Given the description of an element on the screen output the (x, y) to click on. 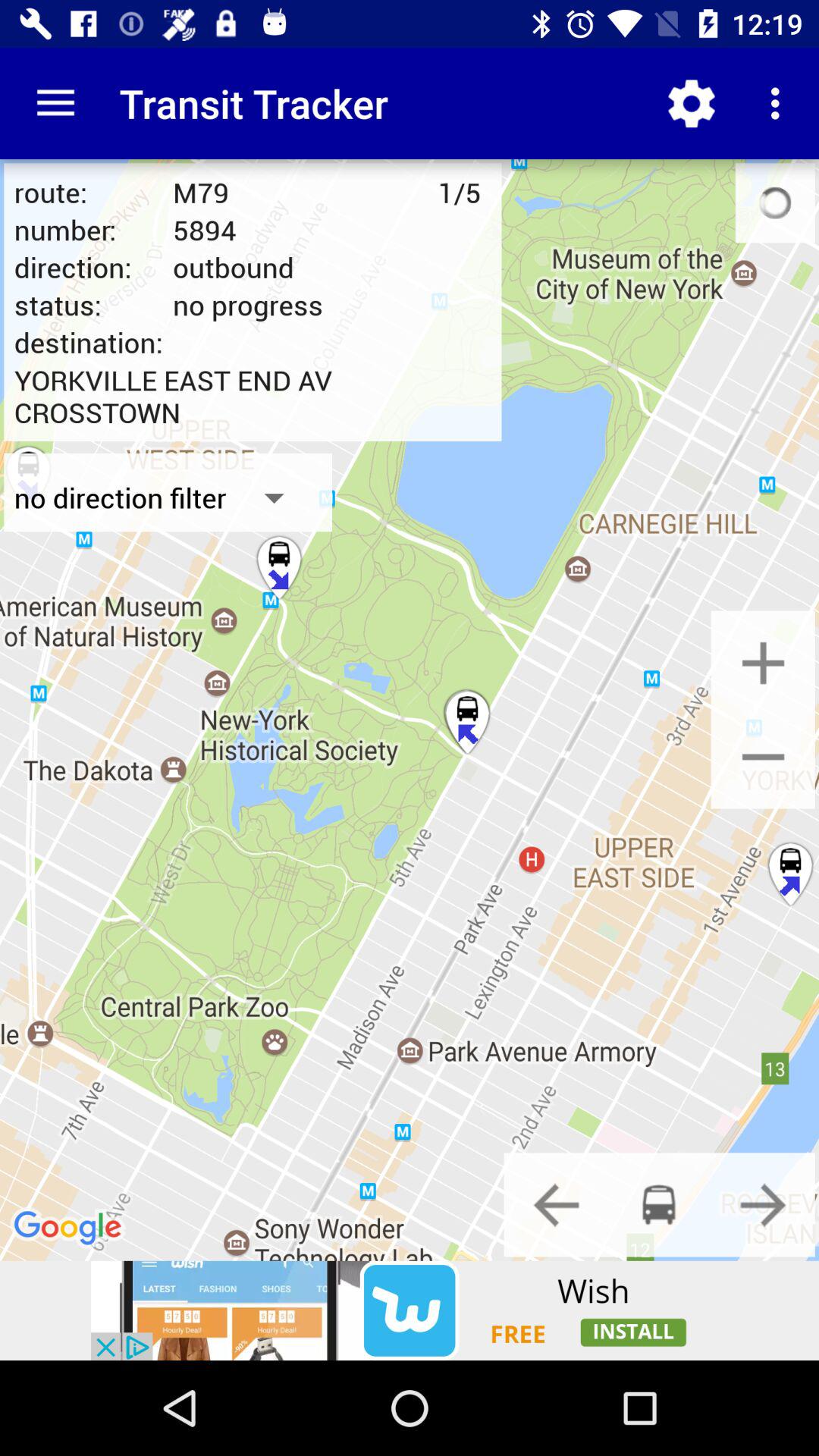
zoom button (762, 662)
